Given the description of an element on the screen output the (x, y) to click on. 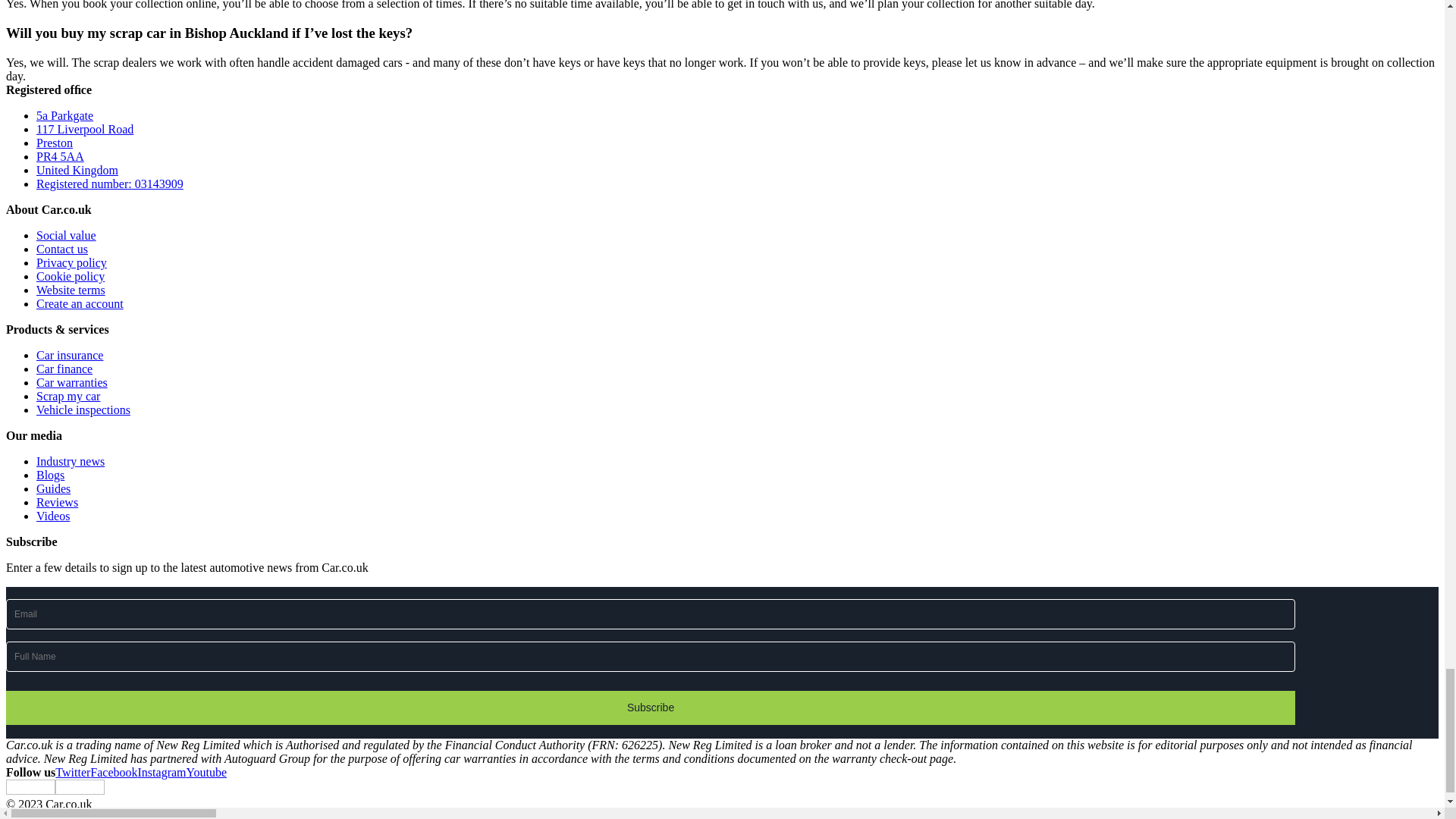
Subscribe (650, 707)
